Given the description of an element on the screen output the (x, y) to click on. 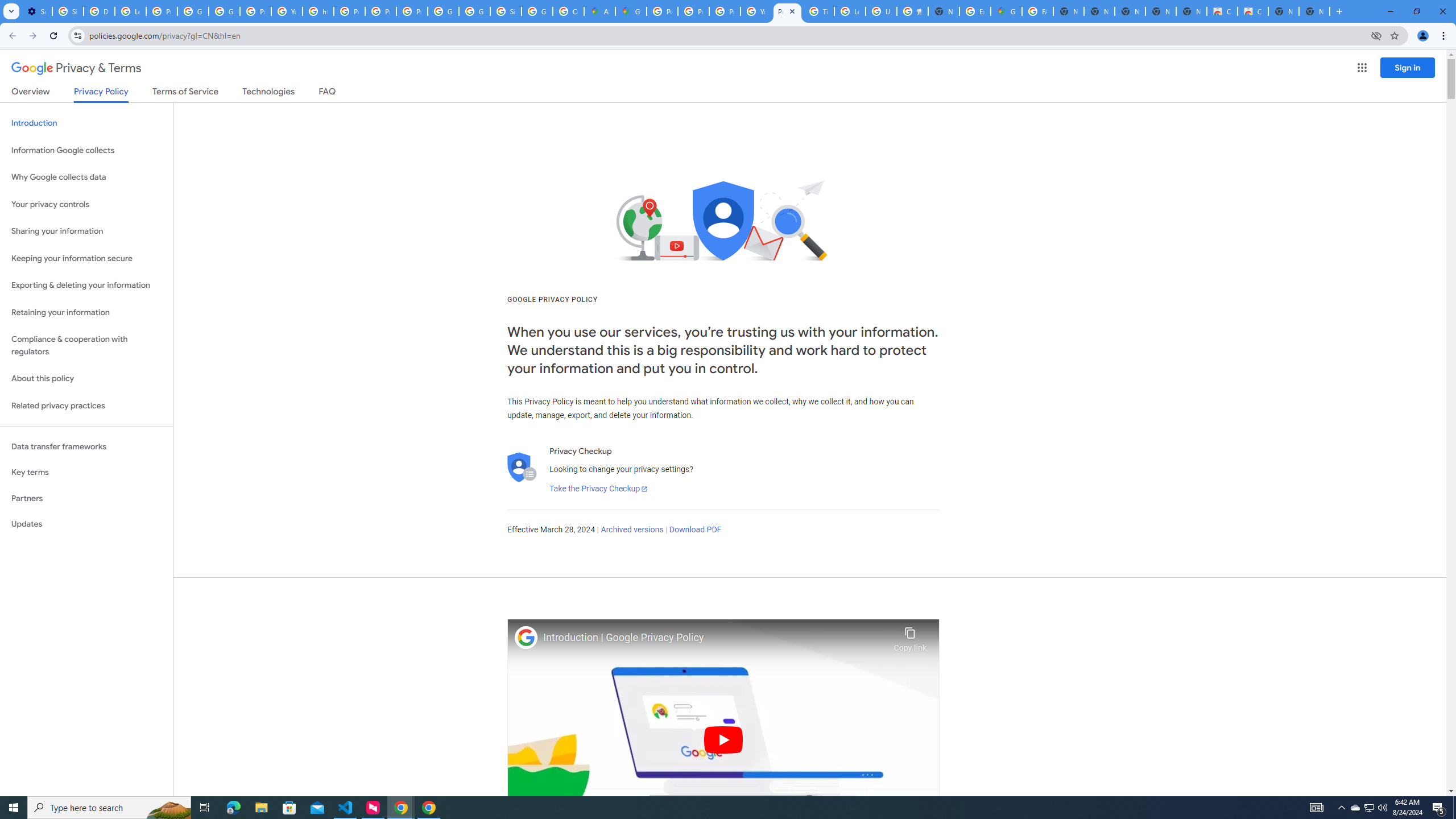
Photo image of Google (526, 636)
Introduction | Google Privacy Policy (715, 637)
Privacy Help Center - Policies Help (724, 11)
